Given the description of an element on the screen output the (x, y) to click on. 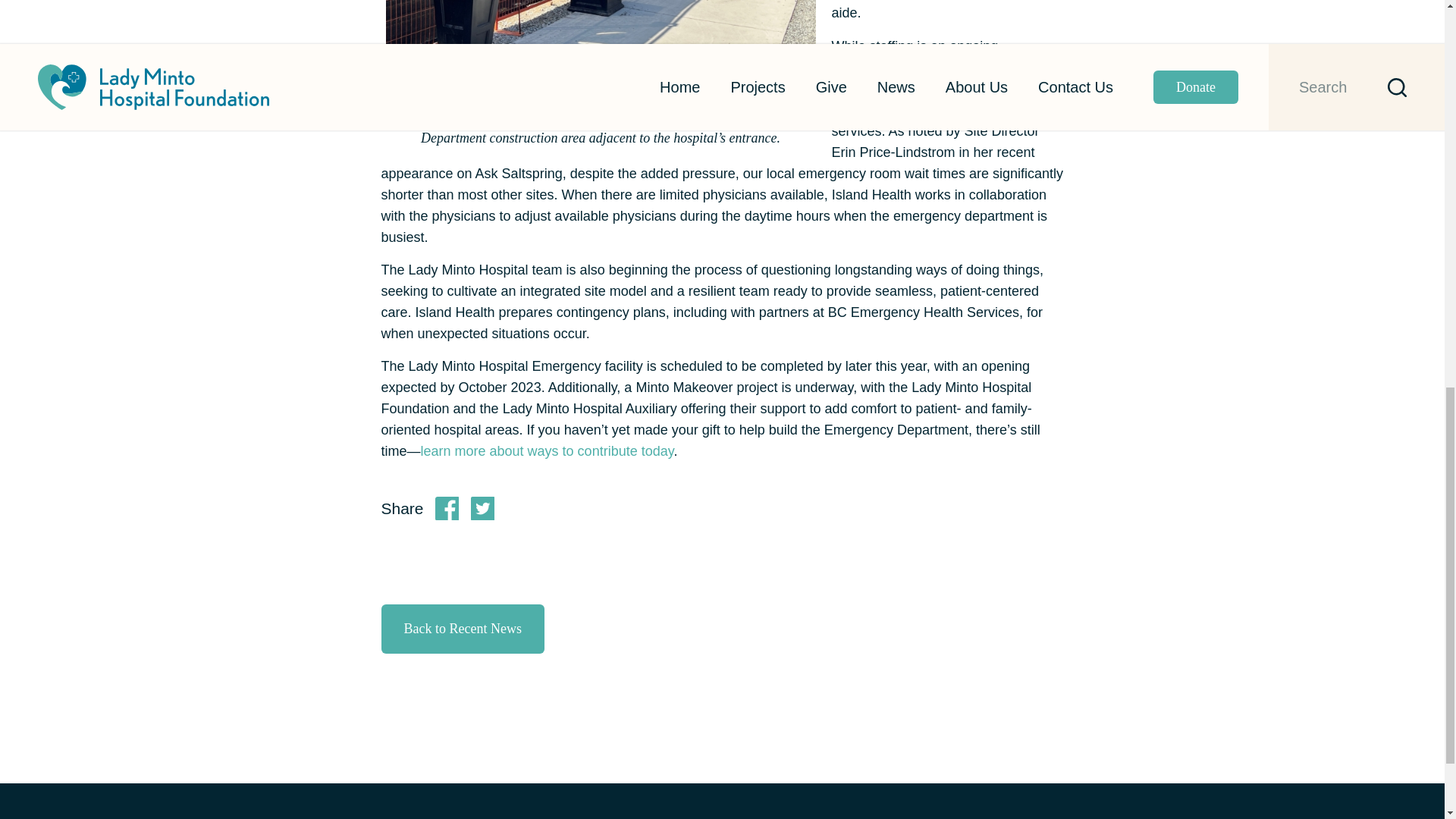
learn more about ways to contribute today (547, 450)
Back to Recent News (461, 628)
